Given the description of an element on the screen output the (x, y) to click on. 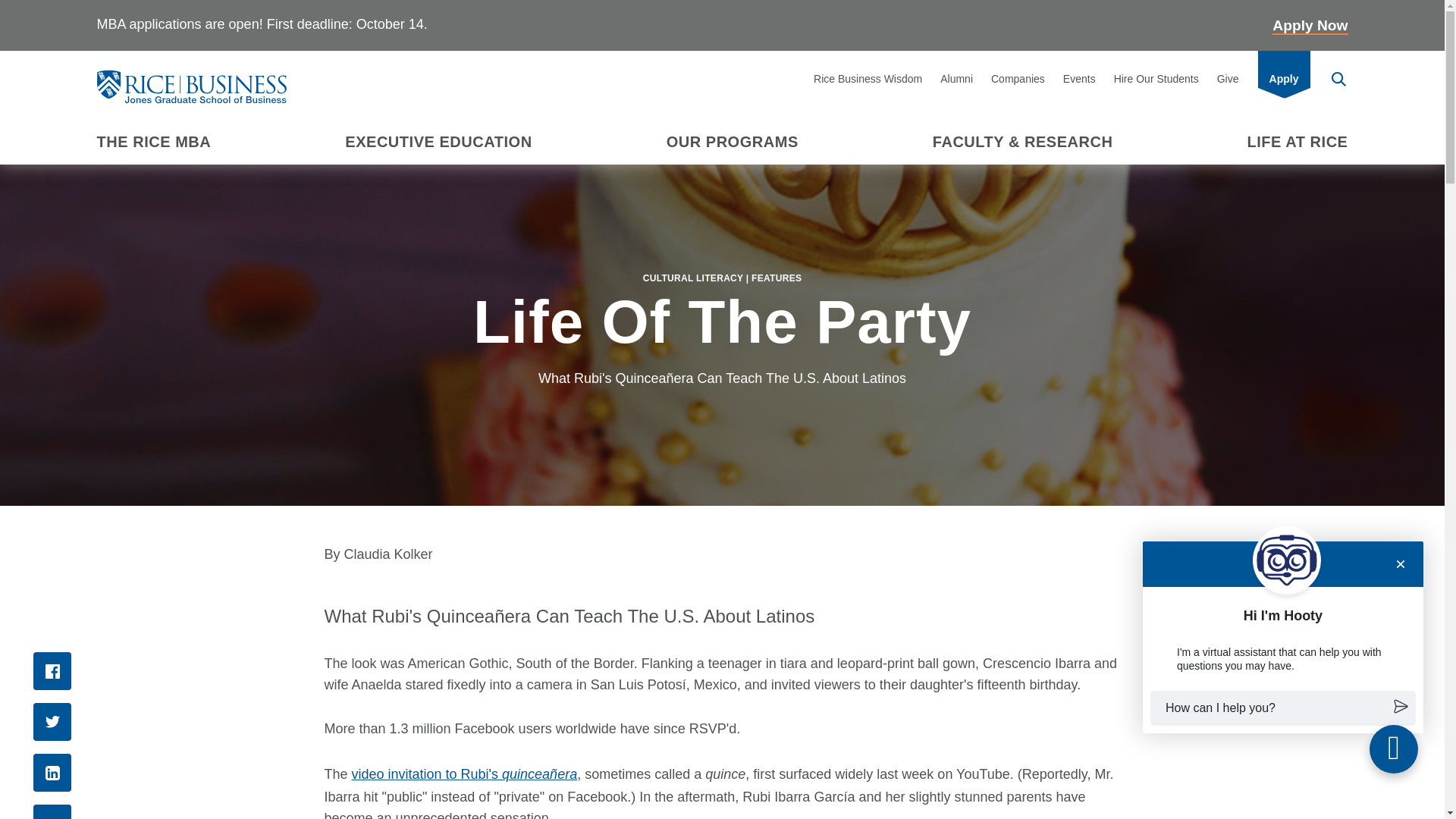
Rice Business Wisdom (868, 78)
Hire Our Students (1156, 78)
Companies (1017, 78)
Give (1227, 78)
Events (1079, 78)
THE RICE MBA (154, 141)
Apply (1282, 78)
Apply Now (1310, 26)
Search (1339, 79)
Search (1337, 80)
